Given the description of an element on the screen output the (x, y) to click on. 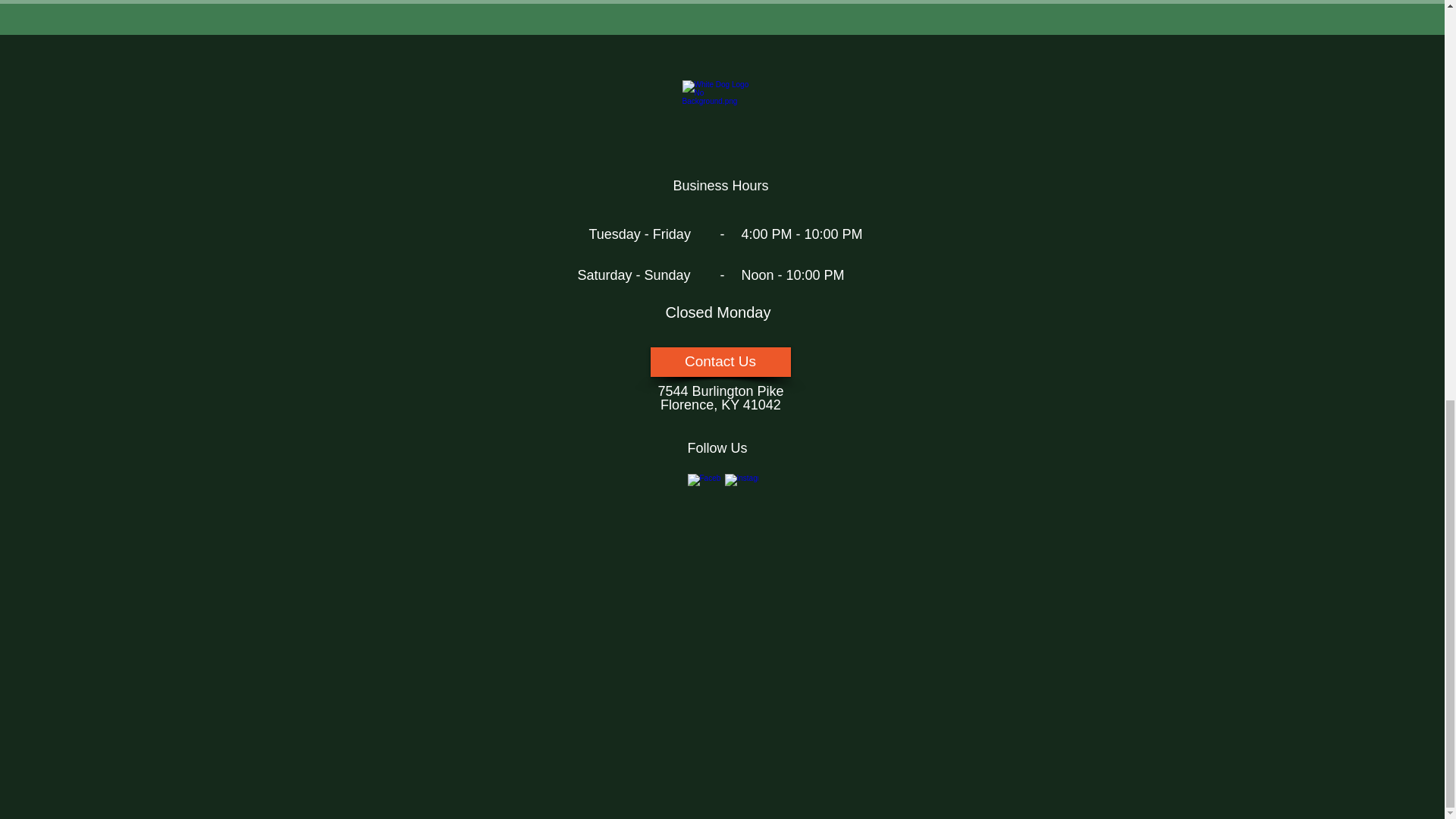
Contact Us (720, 361)
